Given the description of an element on the screen output the (x, y) to click on. 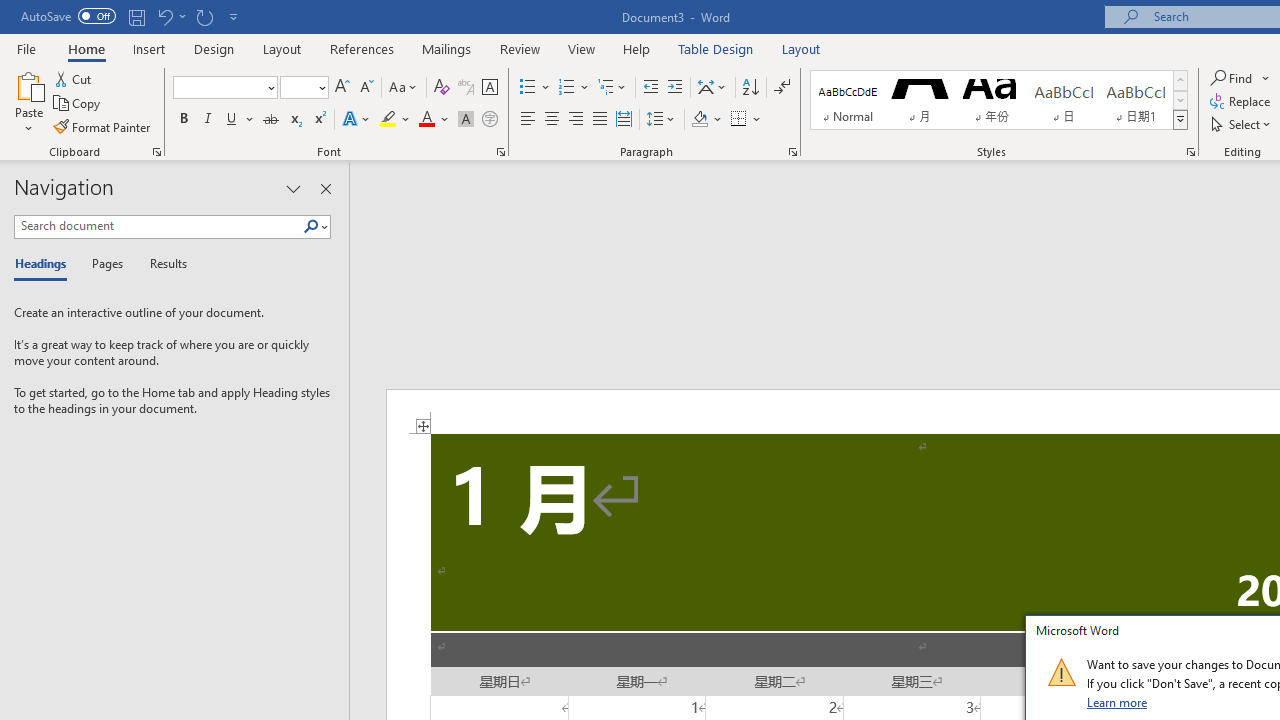
Undo Apply Quick Style (164, 15)
